Given the description of an element on the screen output the (x, y) to click on. 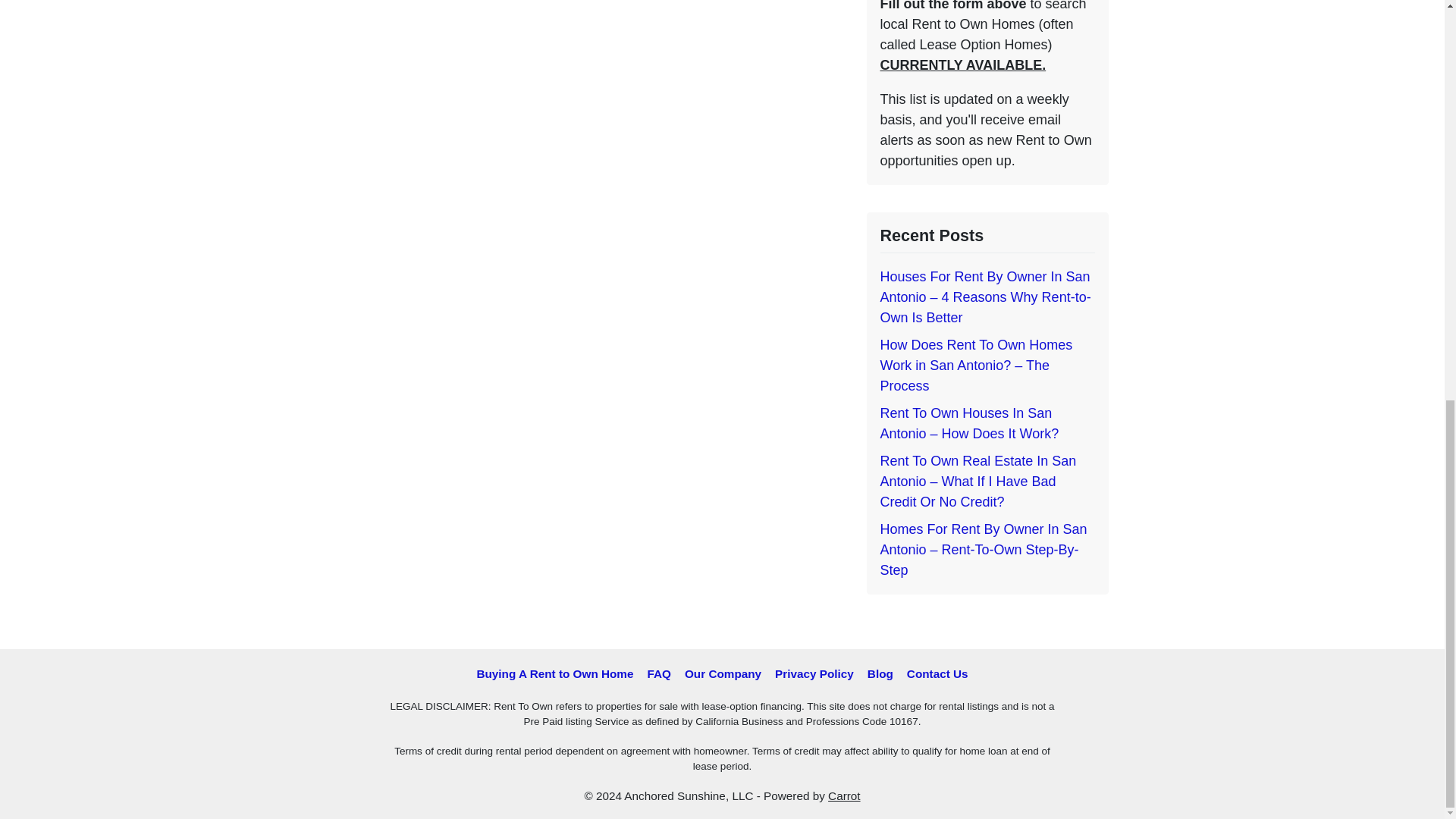
Privacy Policy (814, 673)
Buying A Rent to Own Home (554, 673)
Carrot (844, 795)
Contact Us (937, 673)
FAQ (658, 673)
Blog (879, 673)
Our Company (723, 673)
